Given the description of an element on the screen output the (x, y) to click on. 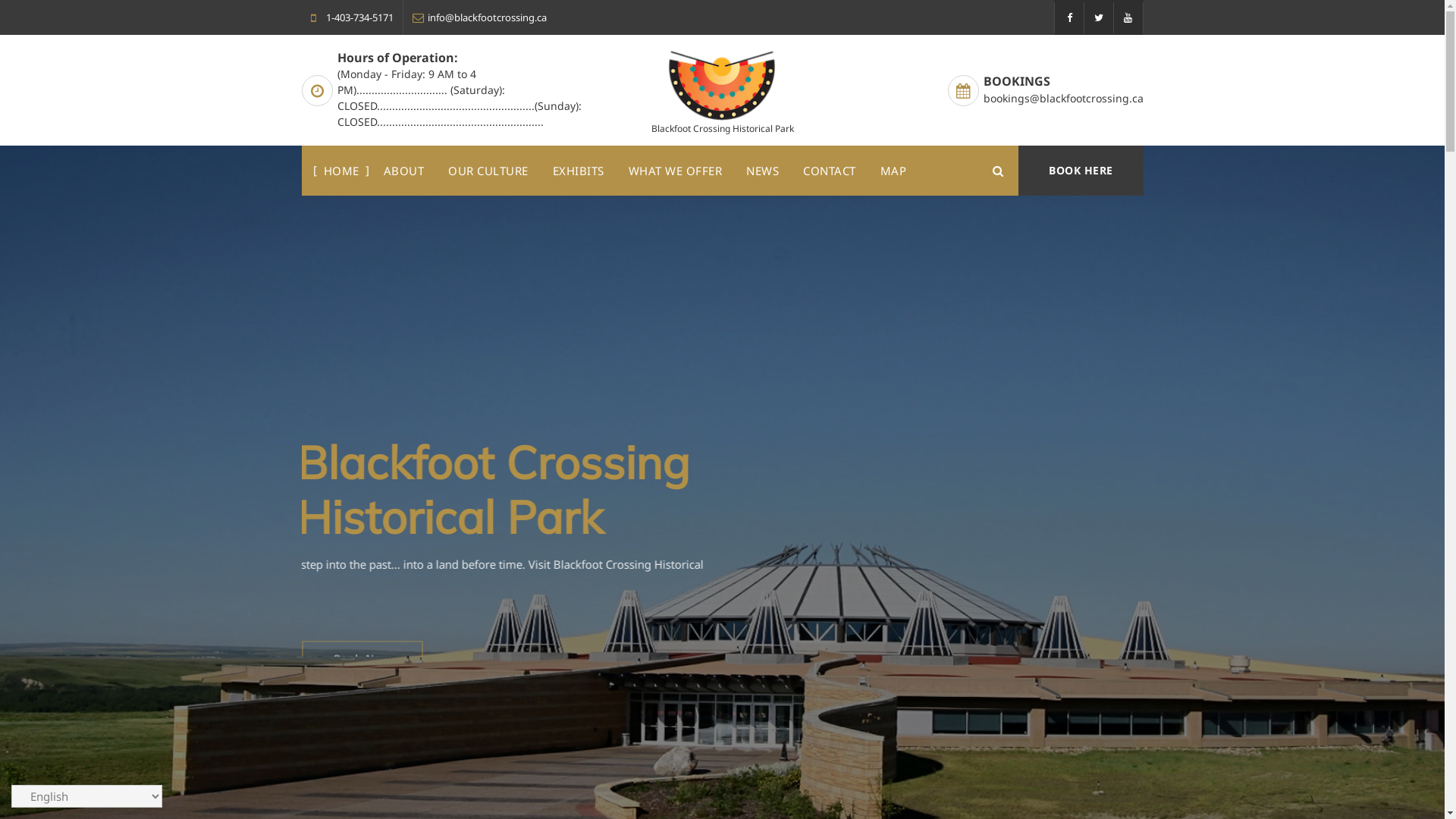
HOME Element type: text (340, 170)
EXHIBITS Element type: text (577, 170)
NEWS Element type: text (762, 170)
WHAT WE OFFER Element type: text (674, 170)
OUR CULTURE Element type: text (488, 170)
ABOUT Element type: text (404, 170)
MAP Element type: text (892, 170)
CONTACT Element type: text (829, 170)
Book Now Element type: text (1082, 638)
BOOK HERE Element type: text (1080, 170)
